Given the description of an element on the screen output the (x, y) to click on. 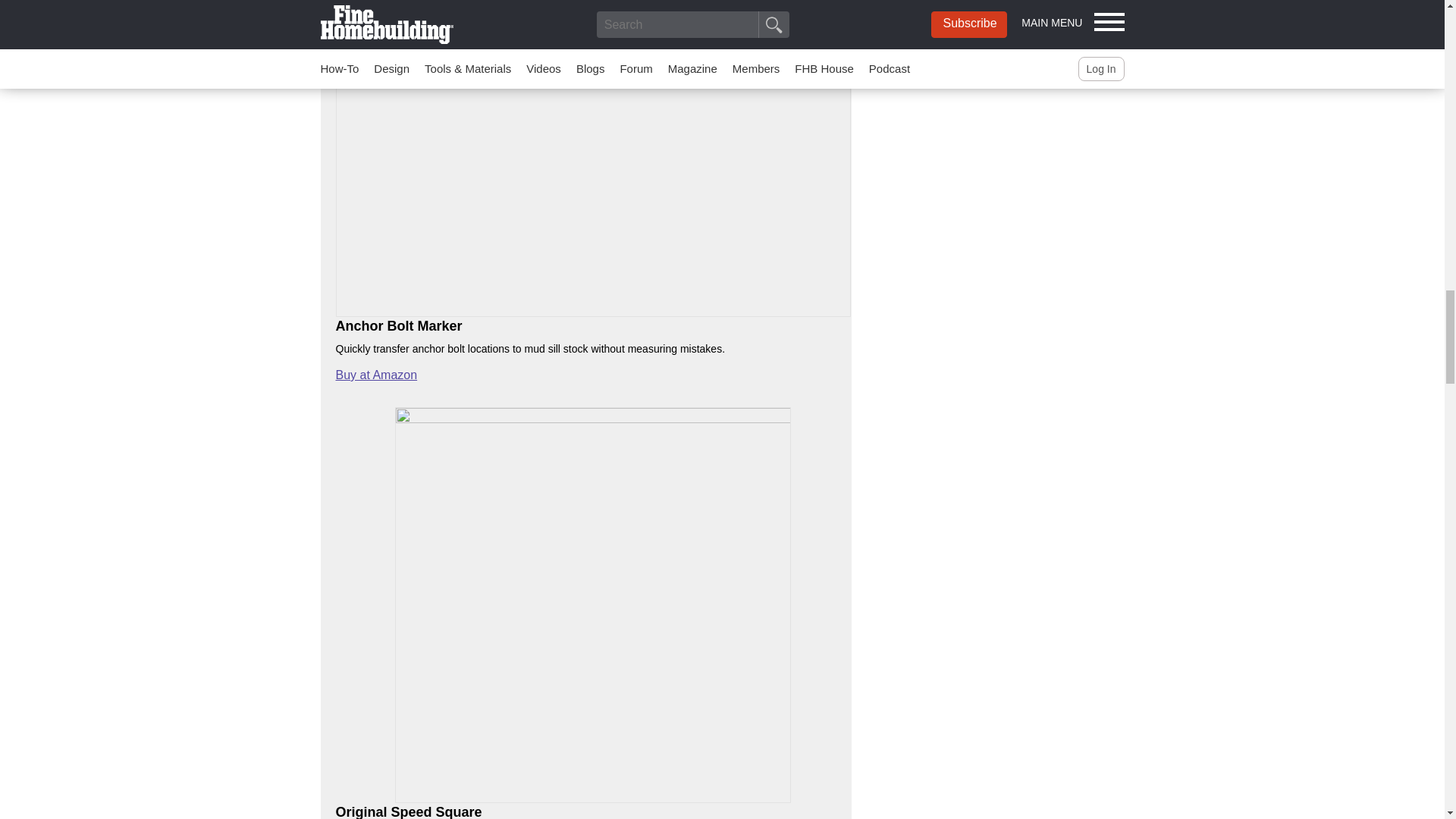
Buy at Amazon (375, 374)
